Given the description of an element on the screen output the (x, y) to click on. 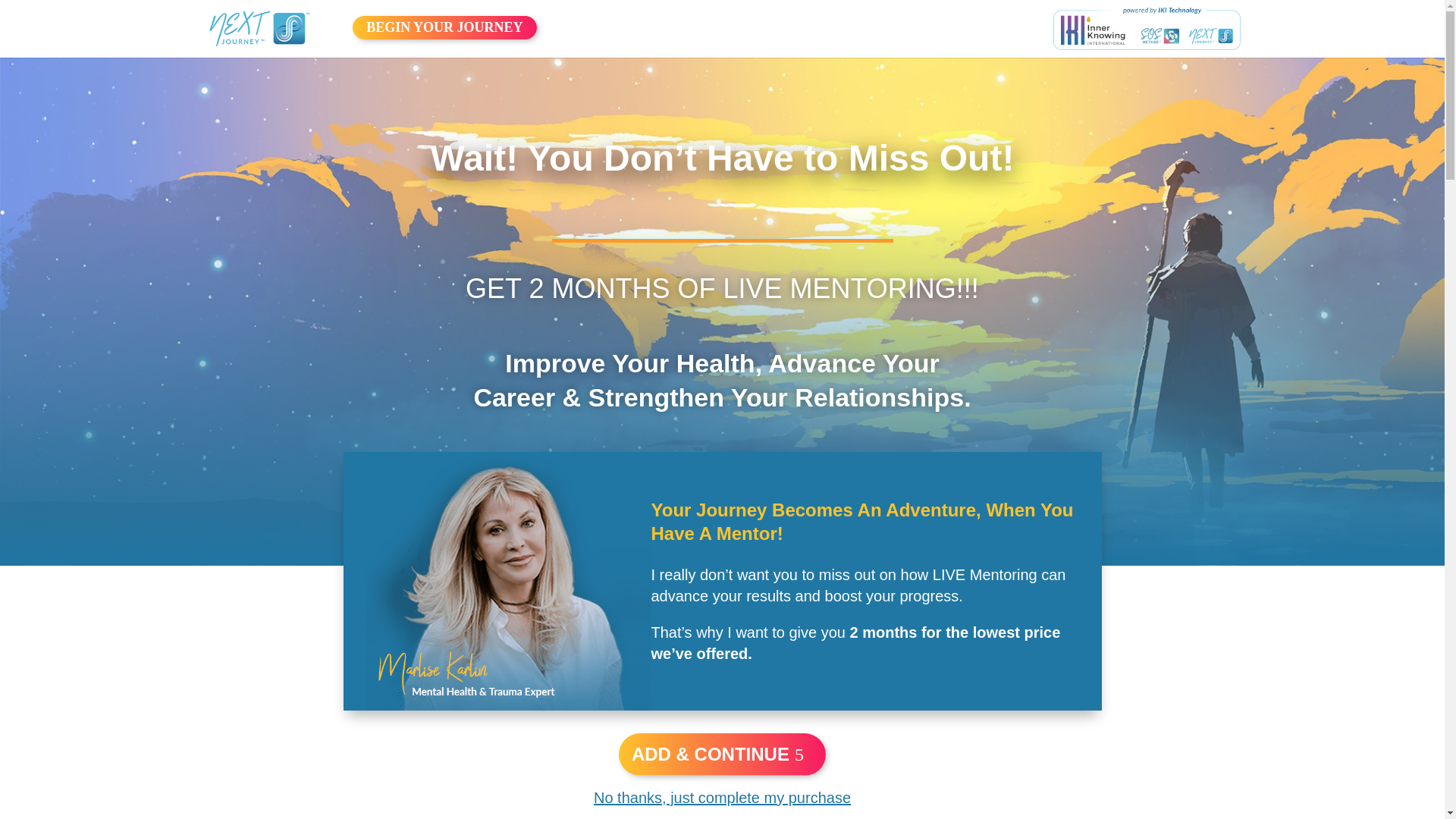
No thanks, just complete my purchase (722, 797)
BEGIN YOUR JOURNEY (443, 27)
